Given the description of an element on the screen output the (x, y) to click on. 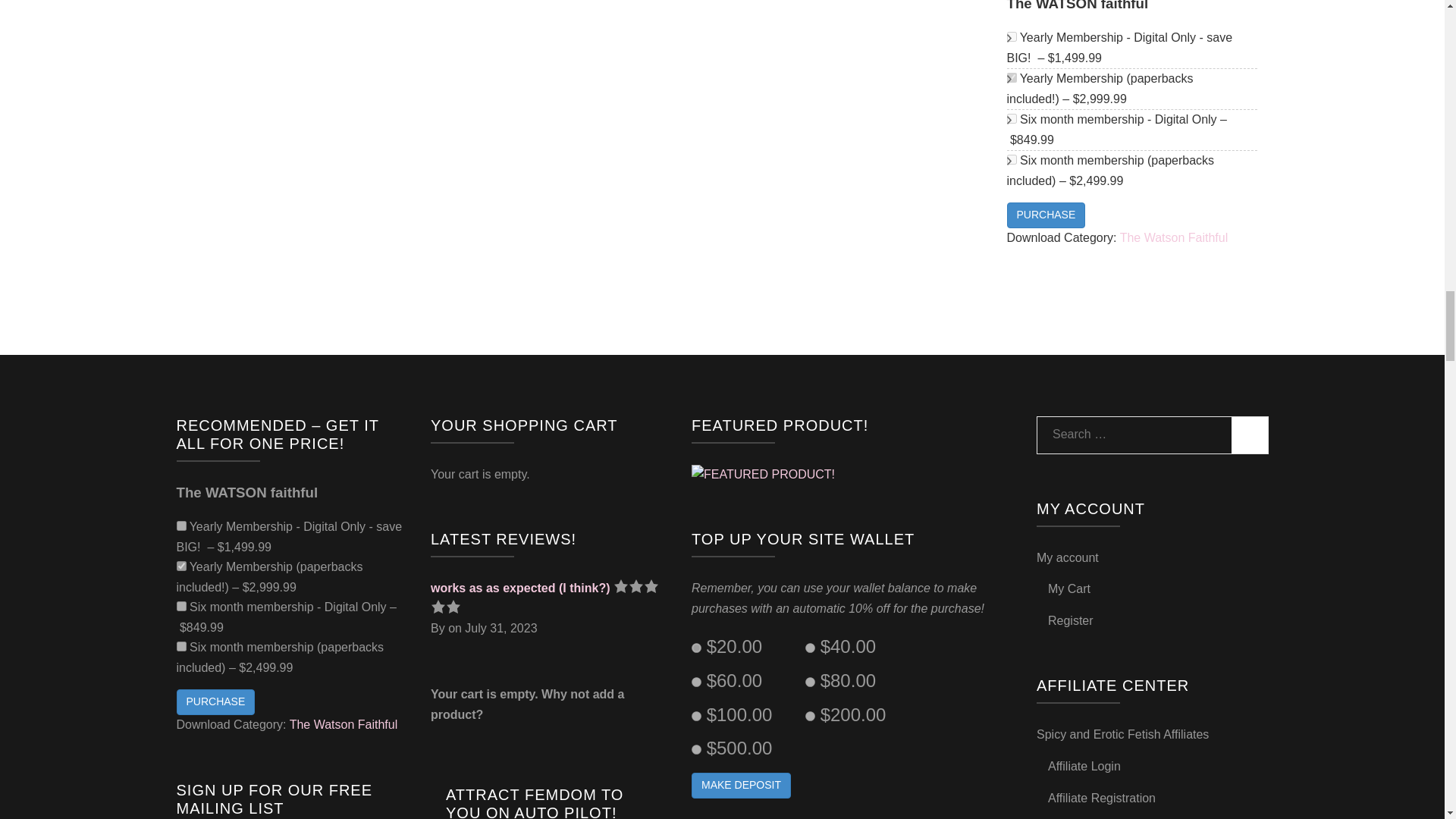
Search (1249, 434)
